Given the description of an element on the screen output the (x, y) to click on. 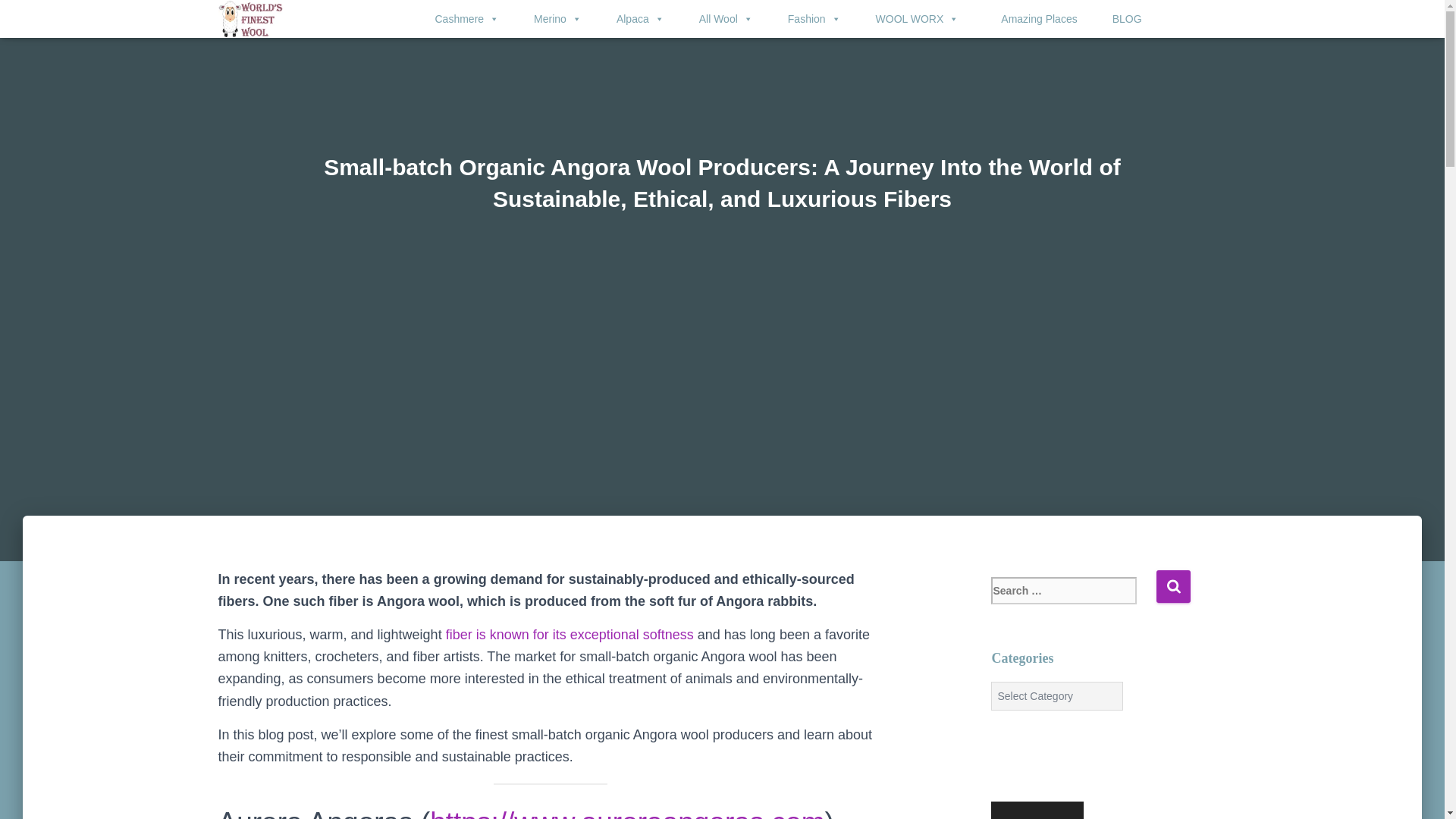
World's Finest Wool (250, 18)
Search (1173, 586)
Search (1173, 586)
Alpaca (630, 19)
Cashmere (456, 19)
Merino (547, 19)
